Given the description of an element on the screen output the (x, y) to click on. 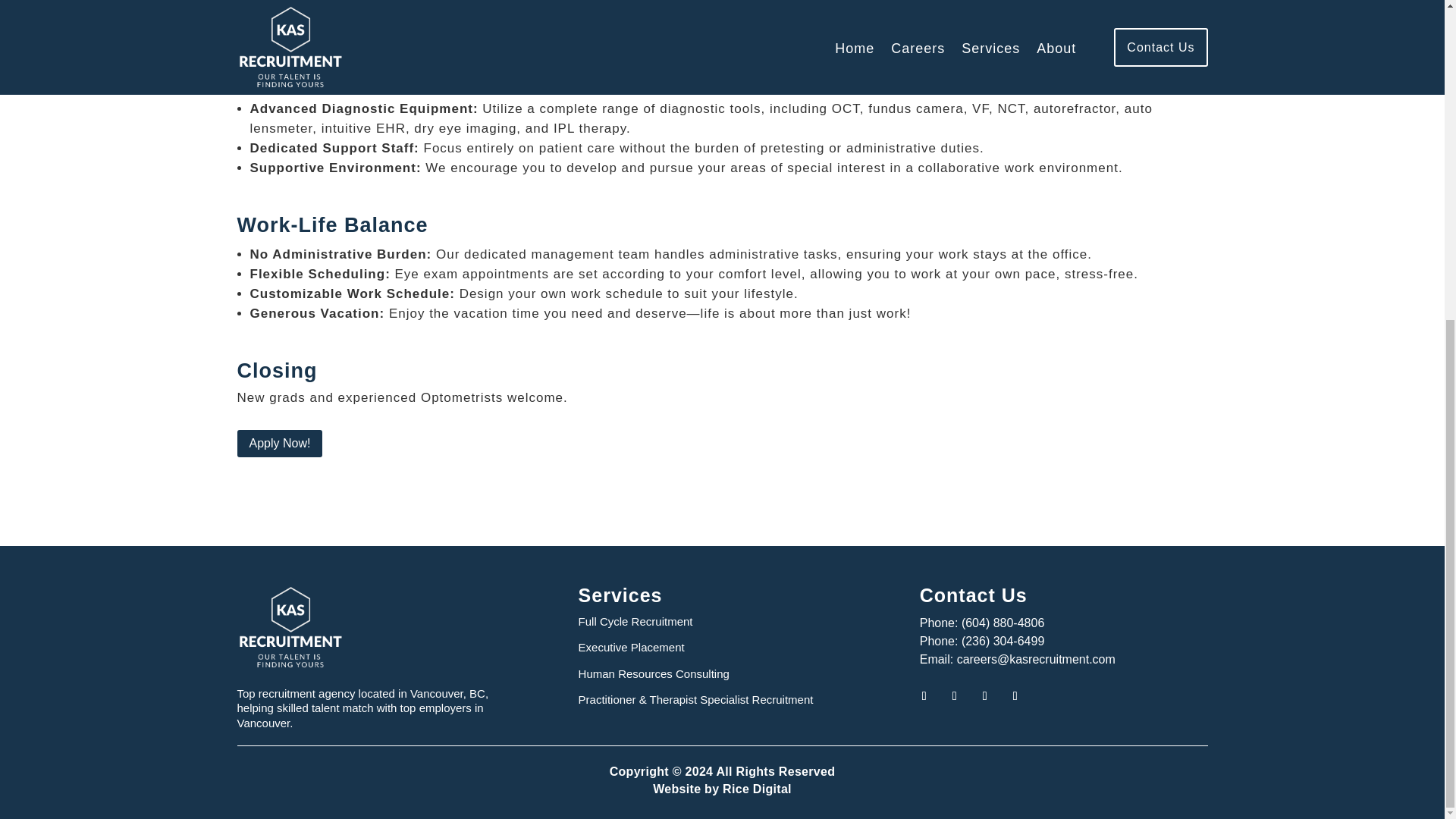
Website by Rice Digital (722, 788)
Follow on LinkedIn (984, 695)
Follow on Instagram (1015, 695)
KAS White Print (289, 626)
Follow on X (954, 695)
Follow on Facebook (924, 695)
Apply Now! (278, 443)
